Given the description of an element on the screen output the (x, y) to click on. 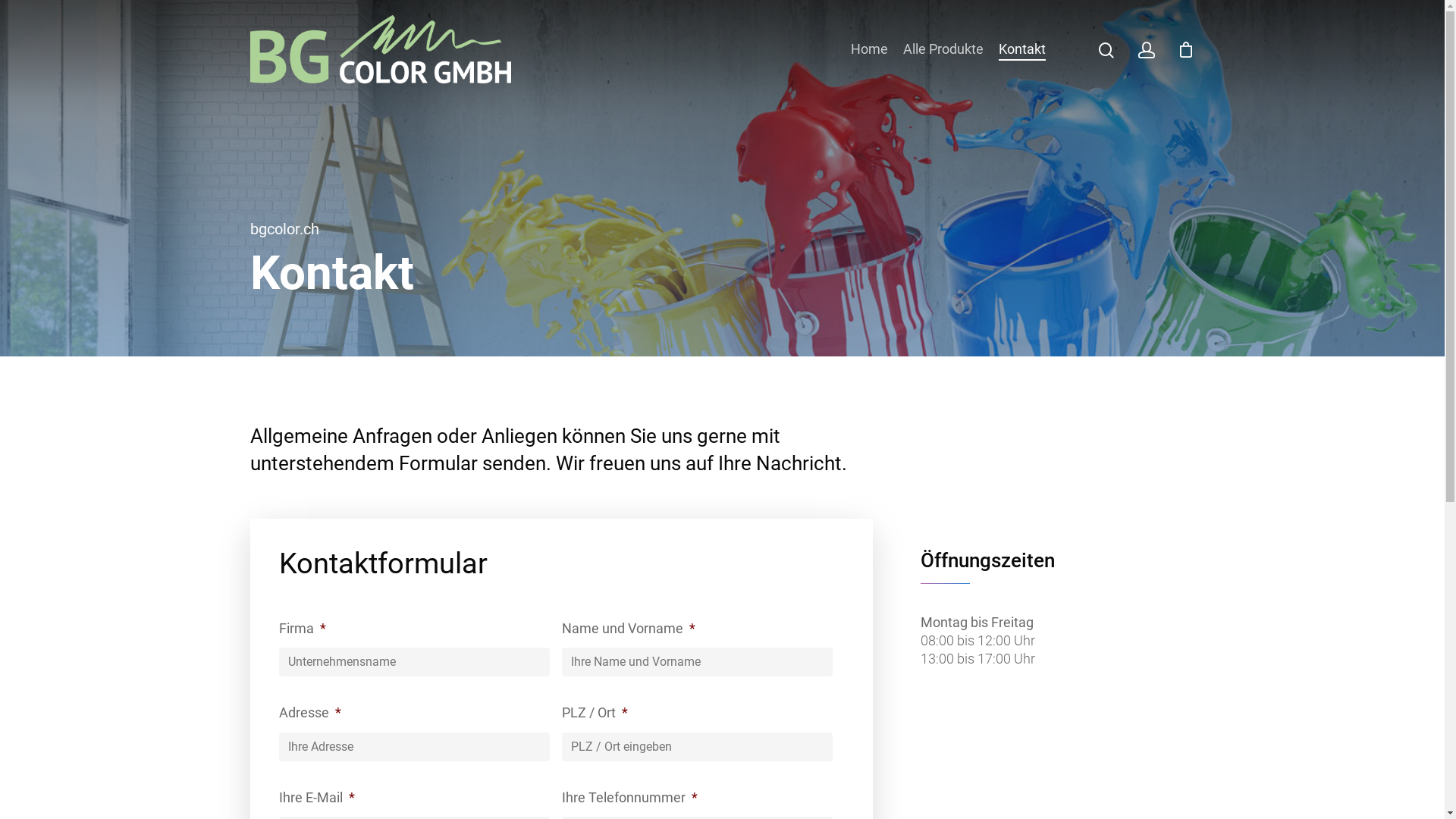
Alle Produkte Element type: text (943, 49)
info@bgcolor.ch Element type: text (662, 648)
AGB Element type: text (1043, 653)
Impressum Element type: text (1043, 629)
onlineshop-mieten.com Element type: text (481, 795)
Home Element type: text (869, 49)
Kontakt Element type: text (1021, 49)
